Given the description of an element on the screen output the (x, y) to click on. 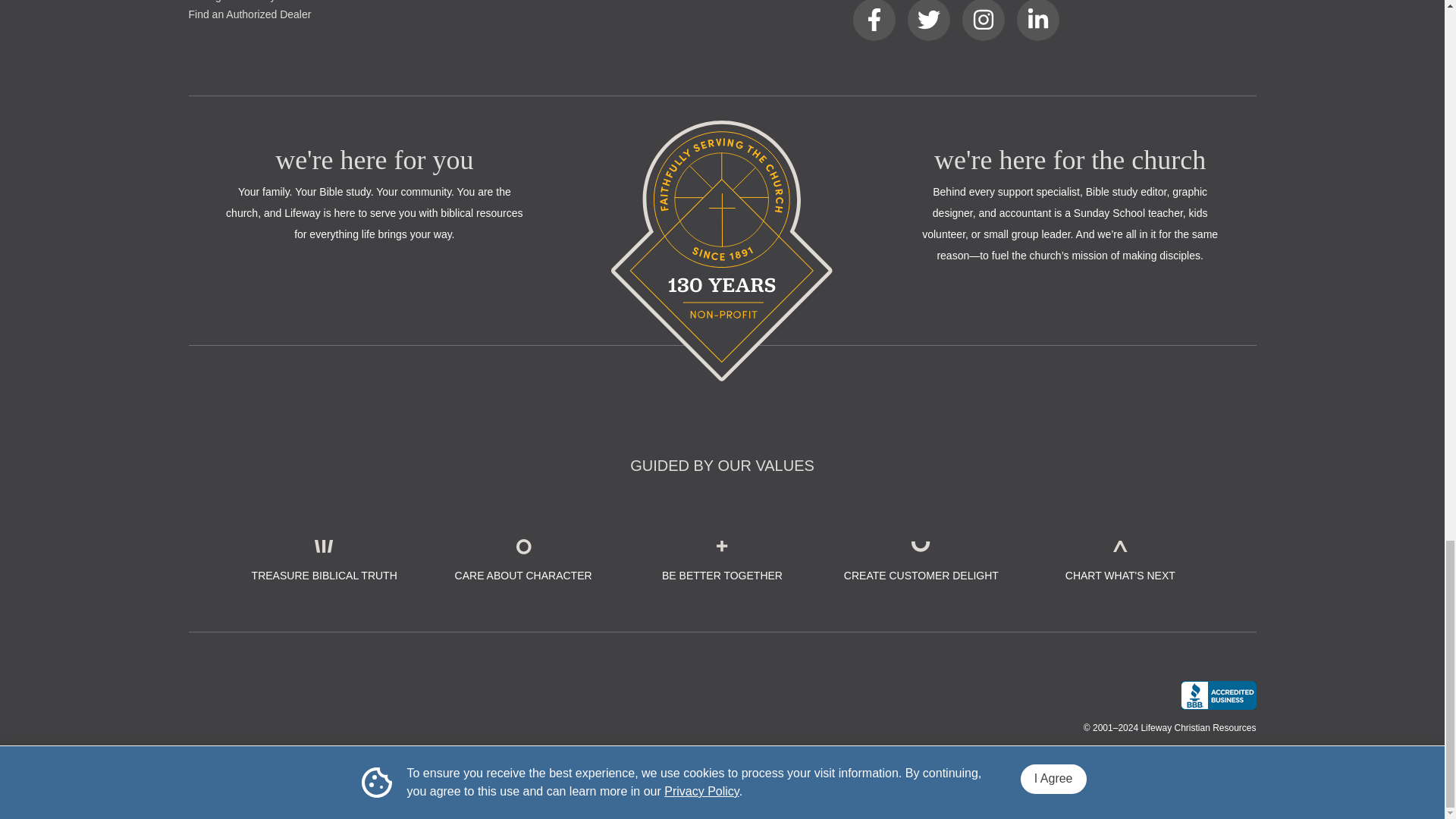
Writing for Lifeway (231, 1)
Find an Authorized Dealer (249, 14)
Lifeway Christian Resources, Religious Goods, Nashville, TN (1217, 695)
